Given the description of an element on the screen output the (x, y) to click on. 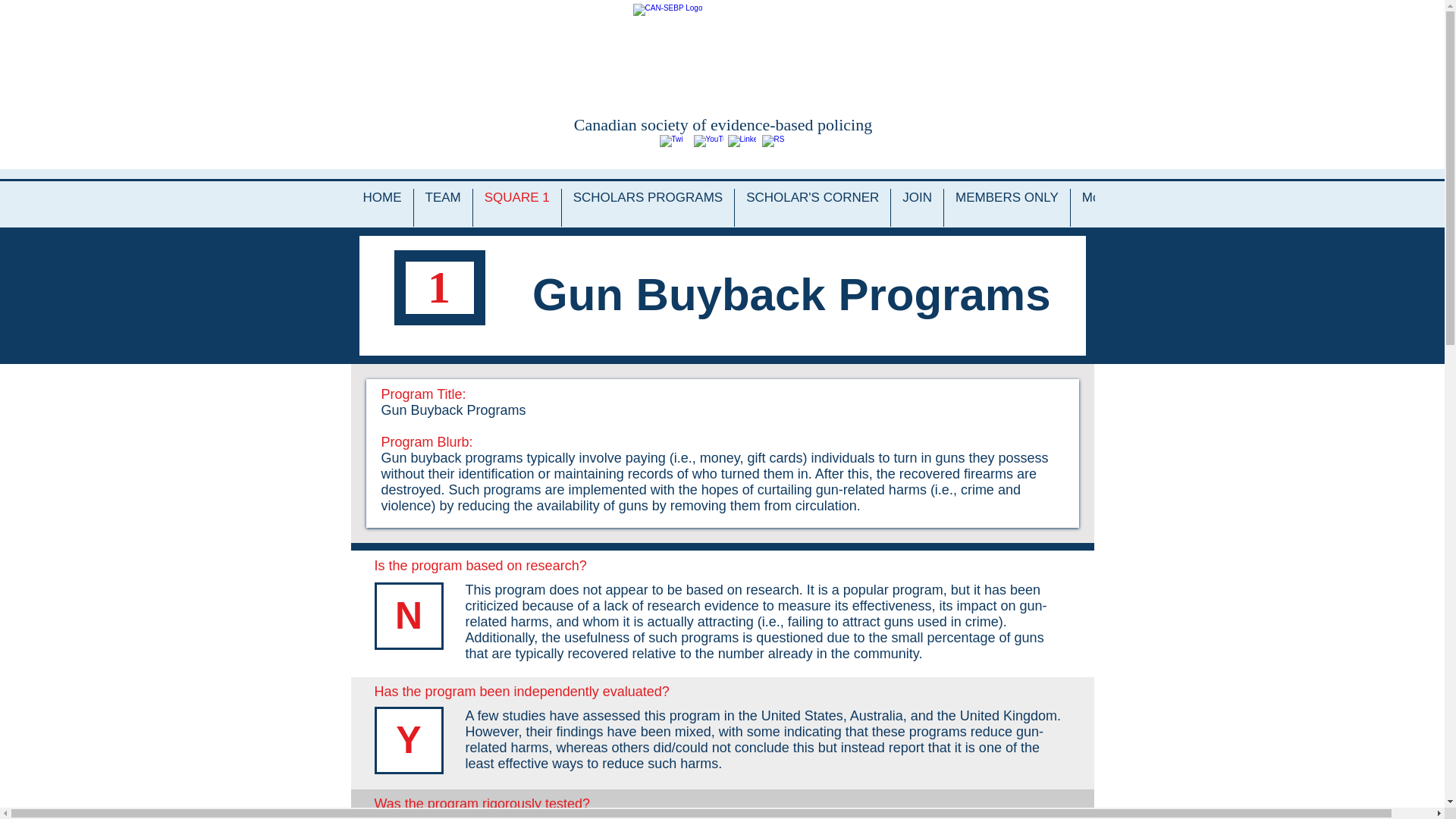
HOME (382, 207)
SCHOLARS PROGRAMS (647, 207)
SCHOLAR'S CORNER (812, 207)
SQUARE 1 (516, 207)
TEAM (442, 207)
